Given the description of an element on the screen output the (x, y) to click on. 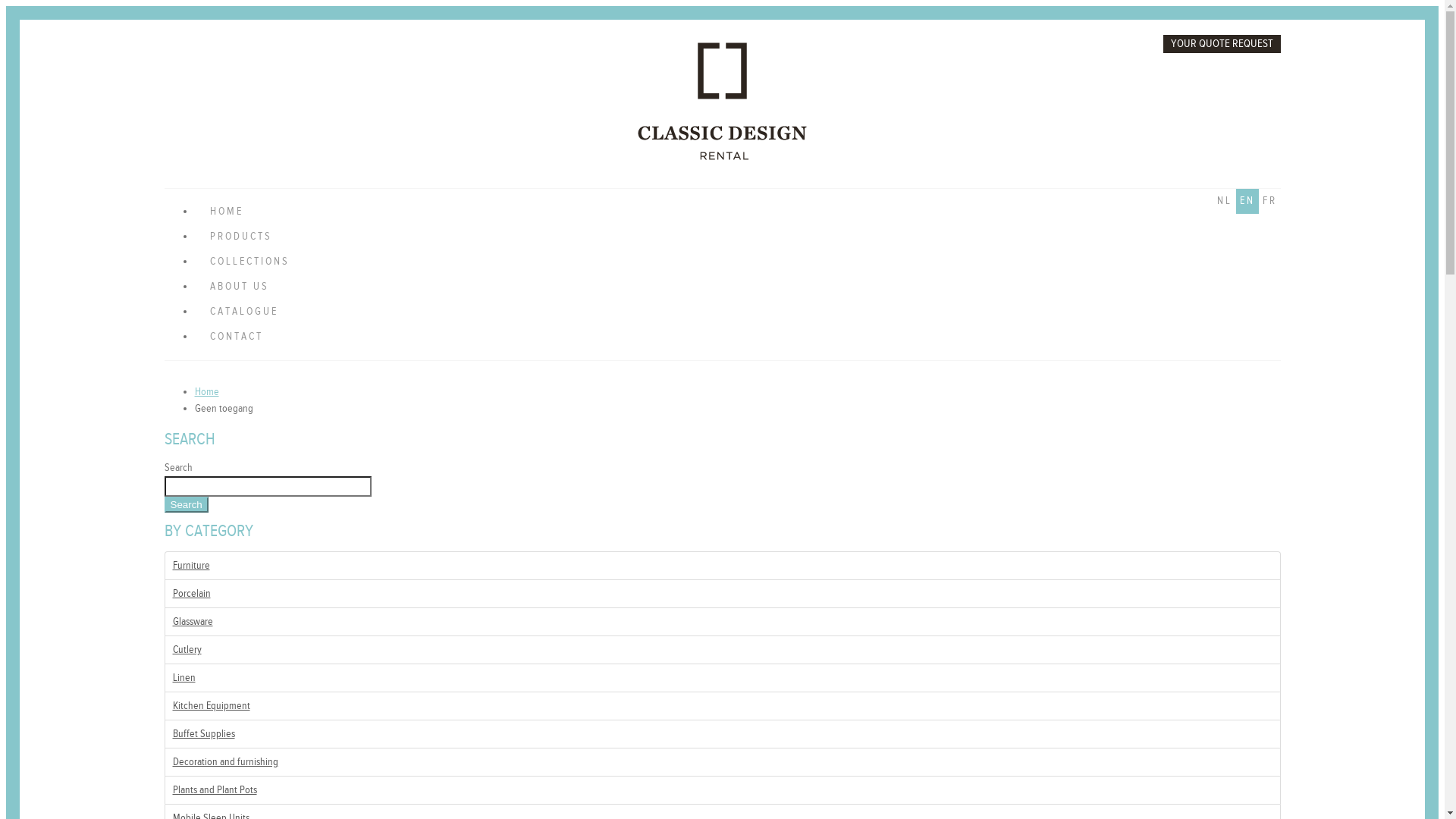
Buffet Supplies Element type: text (721, 733)
Home Element type: text (206, 391)
CONTACT Element type: text (737, 336)
CATALOGUE Element type: text (737, 311)
ABOUT US Element type: text (737, 286)
Plants and Plant Pots Element type: text (721, 789)
Decoration and furnishing Element type: text (721, 761)
Porcelain Element type: text (721, 593)
Furniture Element type: text (721, 565)
HOME Element type: text (737, 211)
Glassware Element type: text (721, 621)
EN Element type: text (1247, 200)
COLLECTIONS Element type: text (737, 261)
Linen Element type: text (721, 677)
Search Element type: text (185, 504)
Cutlery Element type: text (721, 649)
YOUR QUOTE REQUEST Element type: text (1221, 43)
FR Element type: text (1269, 200)
PRODUCTS Element type: text (737, 236)
Classic Design Rental Element type: hover (721, 156)
NL Element type: text (1224, 200)
Kitchen Equipment Element type: text (721, 705)
